Given the description of an element on the screen output the (x, y) to click on. 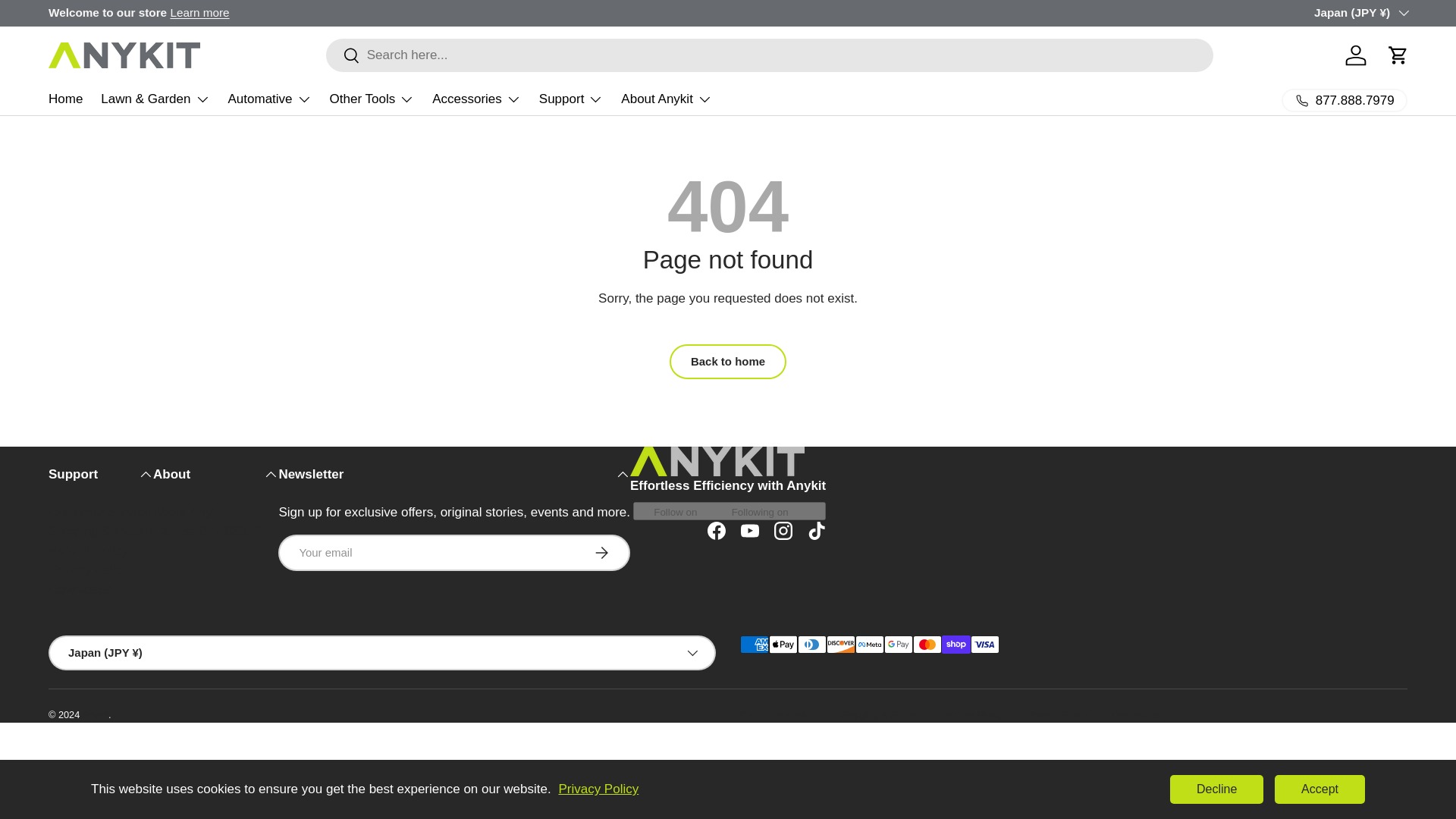
Anykit on YouTube (750, 530)
Cart (1398, 55)
Automative (269, 99)
About Anykit (666, 99)
Accessories (476, 99)
Other Tools (372, 99)
Learn more (199, 11)
Home (65, 99)
American Express (753, 644)
Log in (1356, 55)
